Given the description of an element on the screen output the (x, y) to click on. 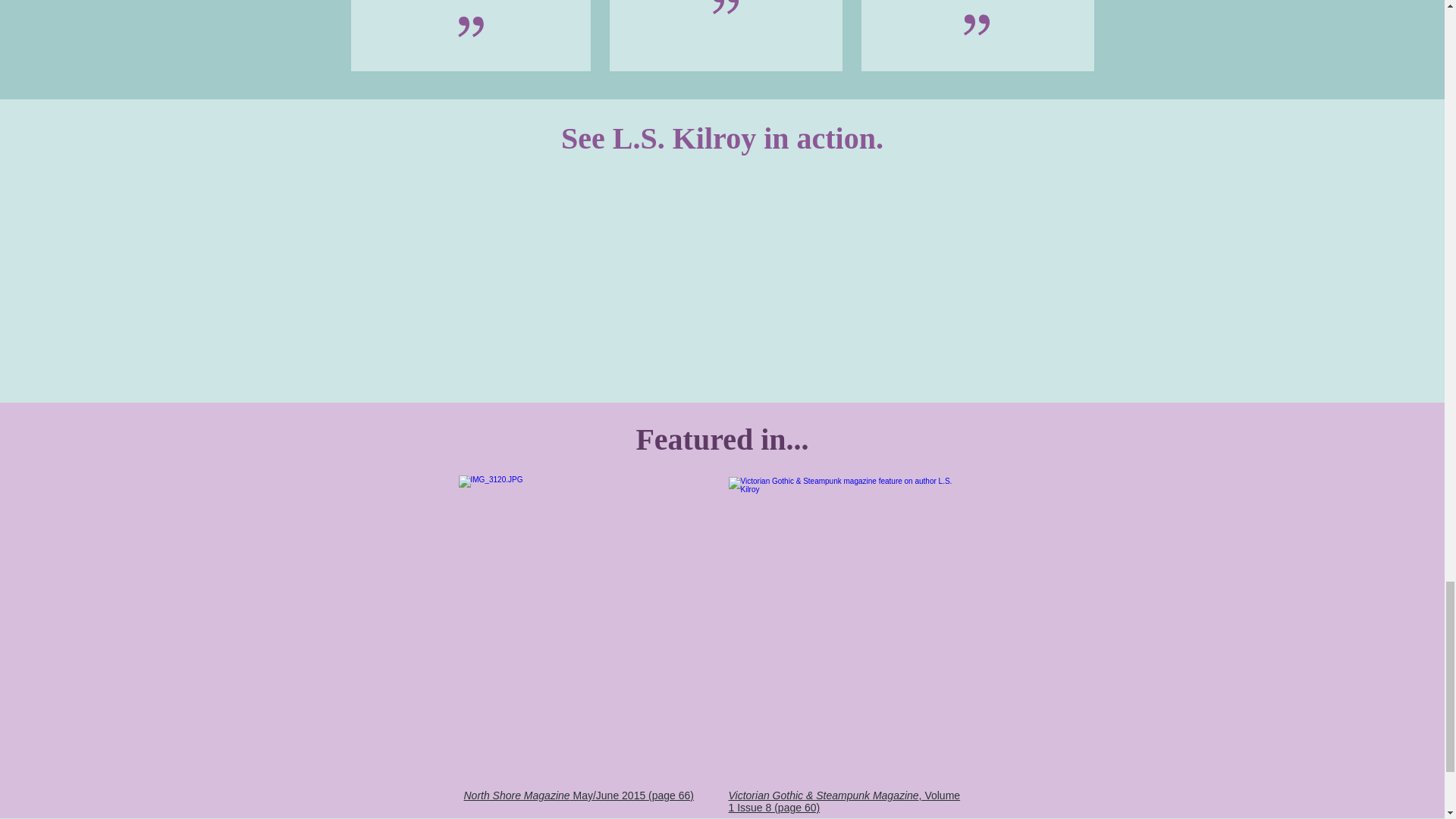
External YouTube (553, 273)
External YouTube (892, 273)
See L.S. Kilroy in action. (722, 138)
